Given the description of an element on the screen output the (x, y) to click on. 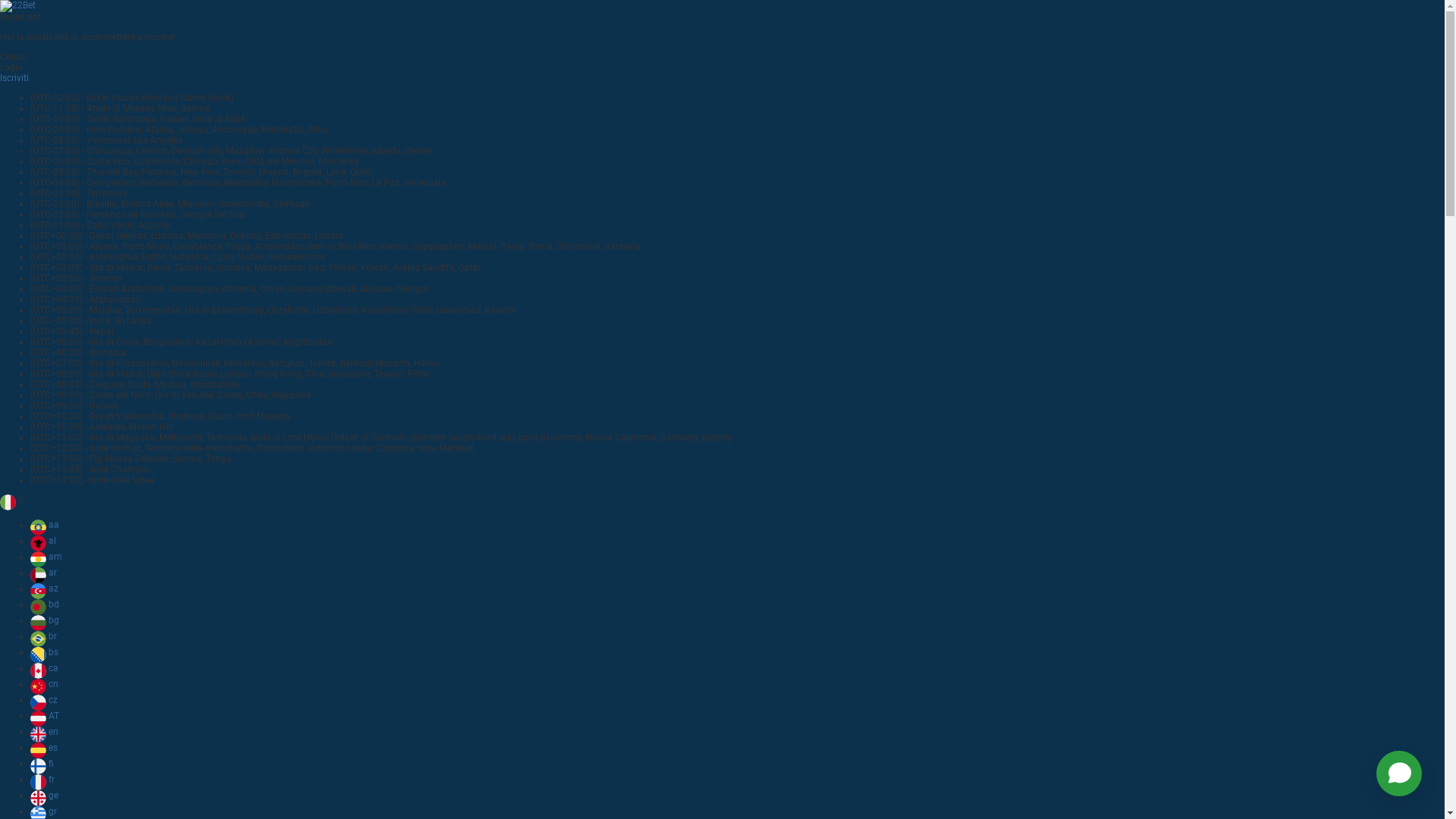
fi Element type: text (41, 763)
gr Element type: text (43, 811)
cn Element type: text (44, 683)
ge Element type: text (44, 795)
AT Element type: text (44, 715)
bd Element type: text (44, 604)
es Element type: text (43, 747)
ca Element type: text (44, 667)
al Element type: text (43, 540)
fr Element type: text (42, 779)
en Element type: text (44, 731)
am Element type: text (46, 556)
ar Element type: text (43, 572)
aa Element type: text (44, 524)
bg Element type: text (44, 620)
az Element type: text (44, 588)
bs Element type: text (44, 651)
br Element type: text (43, 635)
cz Element type: text (43, 699)
Iscriviti Element type: text (14, 77)
